Given the description of an element on the screen output the (x, y) to click on. 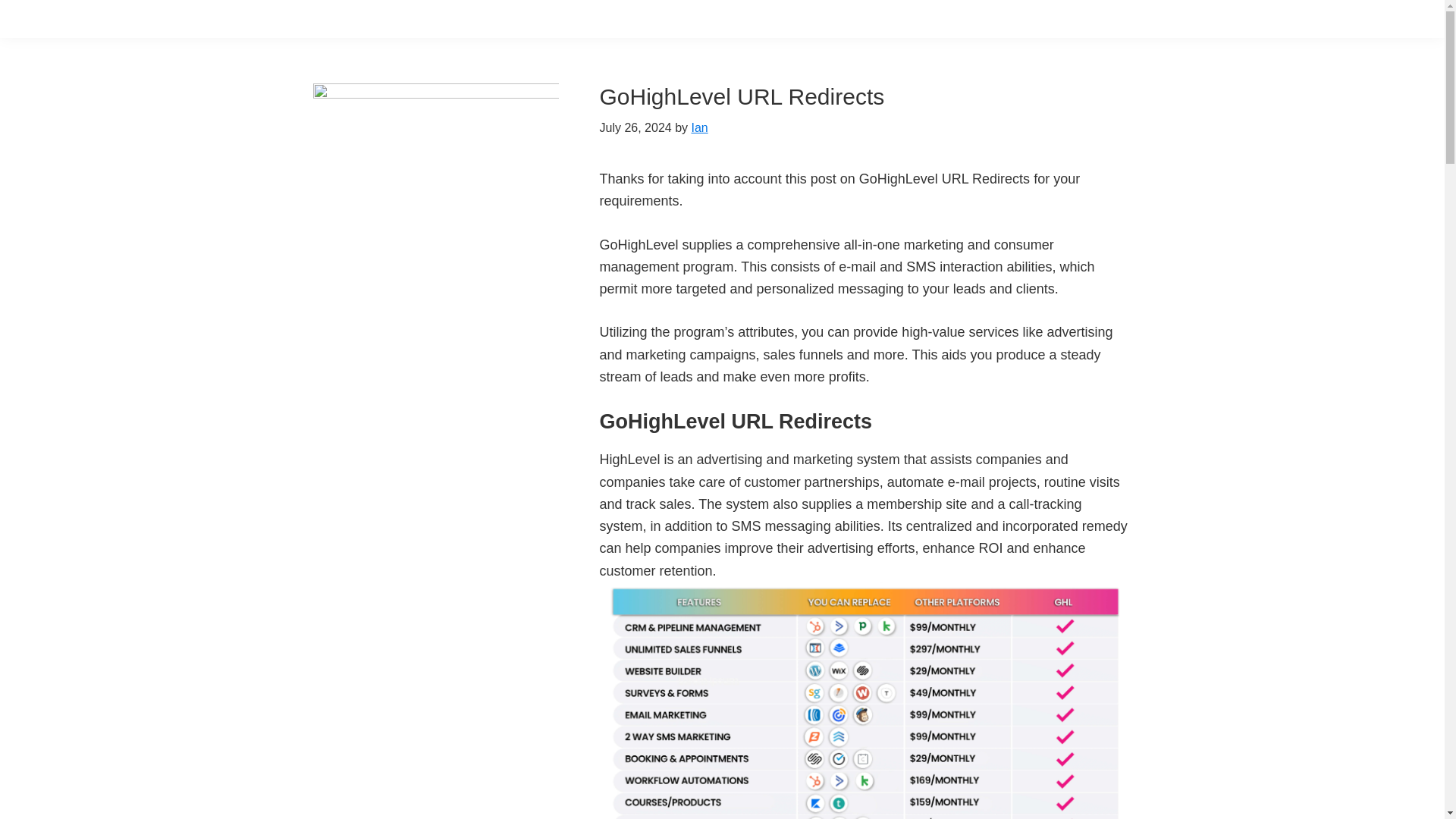
Ian (698, 127)
